Given the description of an element on the screen output the (x, y) to click on. 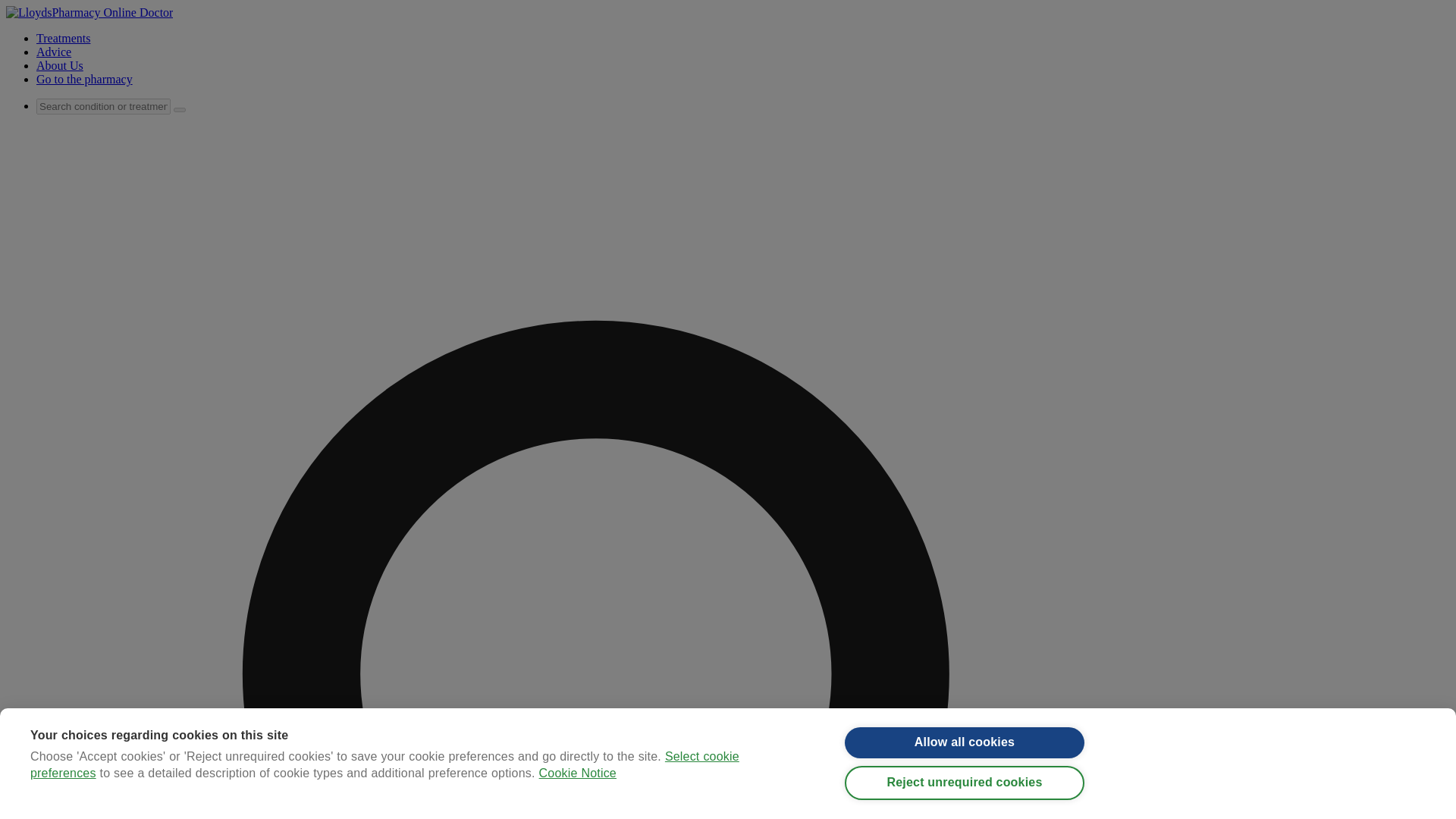
Allow all cookies (964, 754)
Advice (53, 51)
About Us (59, 65)
Search condition or treatment (103, 106)
LloydsPharmacy Online Doctor (89, 12)
Reject unrequired cookies (964, 803)
Treatments (63, 38)
Go to the pharmacy (84, 78)
